Given the description of an element on the screen output the (x, y) to click on. 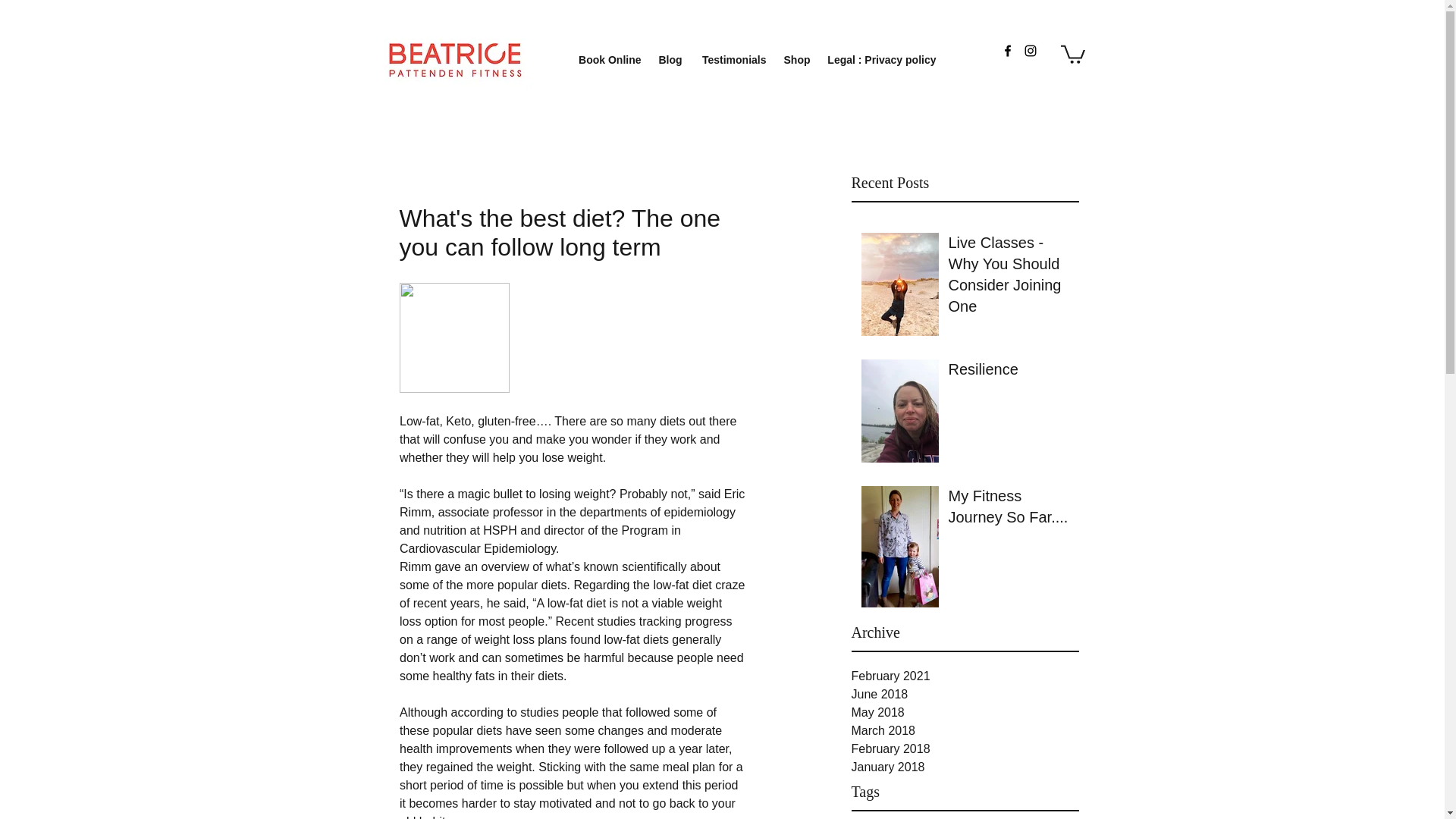
June 2018 (964, 694)
My Fitness Journey So Far.... (1007, 509)
May 2018 (964, 712)
Live Classes - Why You Should Consider Joining One (1007, 276)
February 2018 (964, 749)
March 2018 (964, 730)
February 2021 (964, 676)
Shop (794, 59)
Legal : Privacy policy (879, 59)
January 2018 (964, 767)
Blog (669, 59)
Book Online (606, 59)
Testimonials (732, 59)
Resilience (1007, 371)
